Given the description of an element on the screen output the (x, y) to click on. 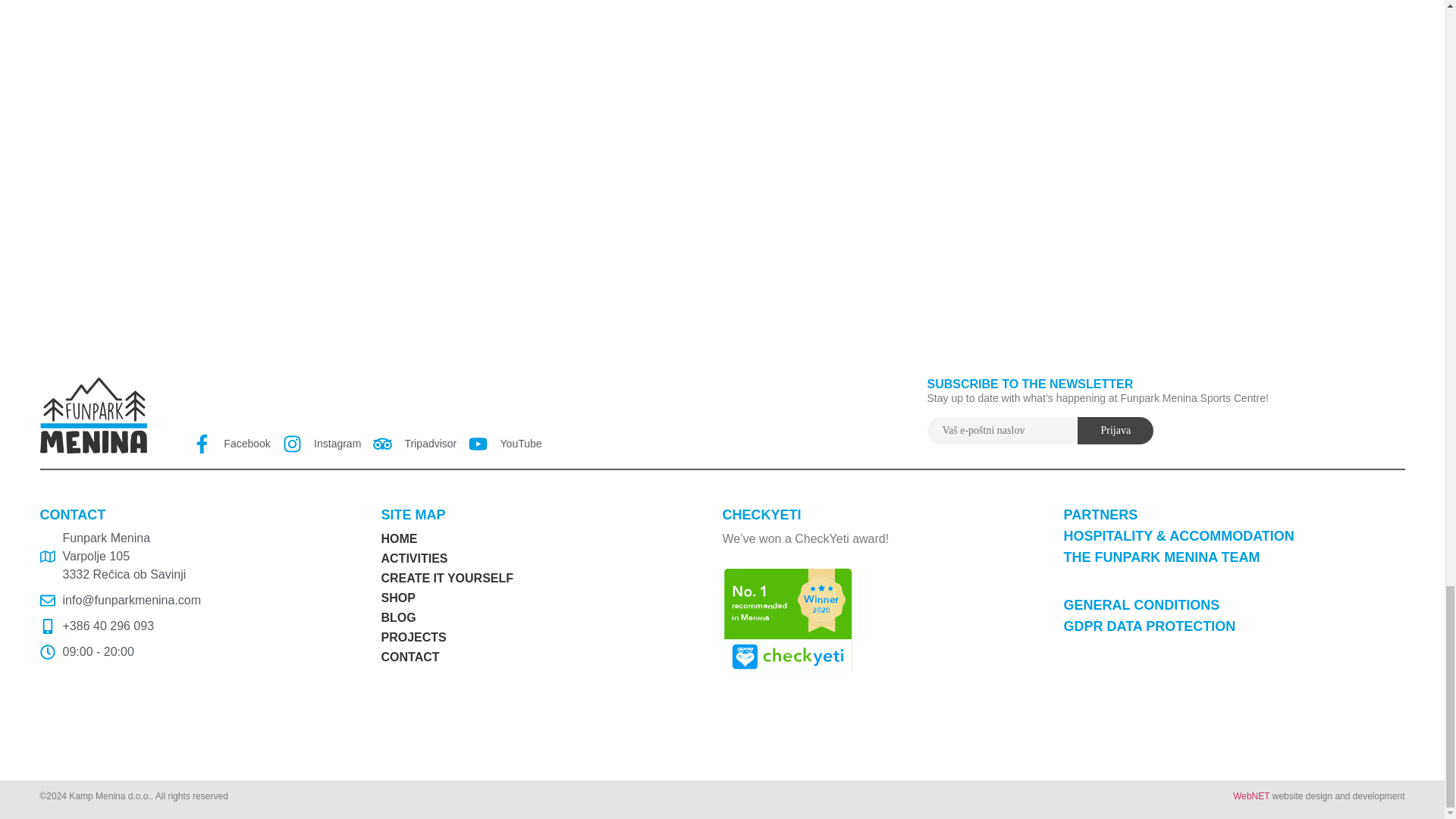
Prijava (1115, 430)
